Given the description of an element on the screen output the (x, y) to click on. 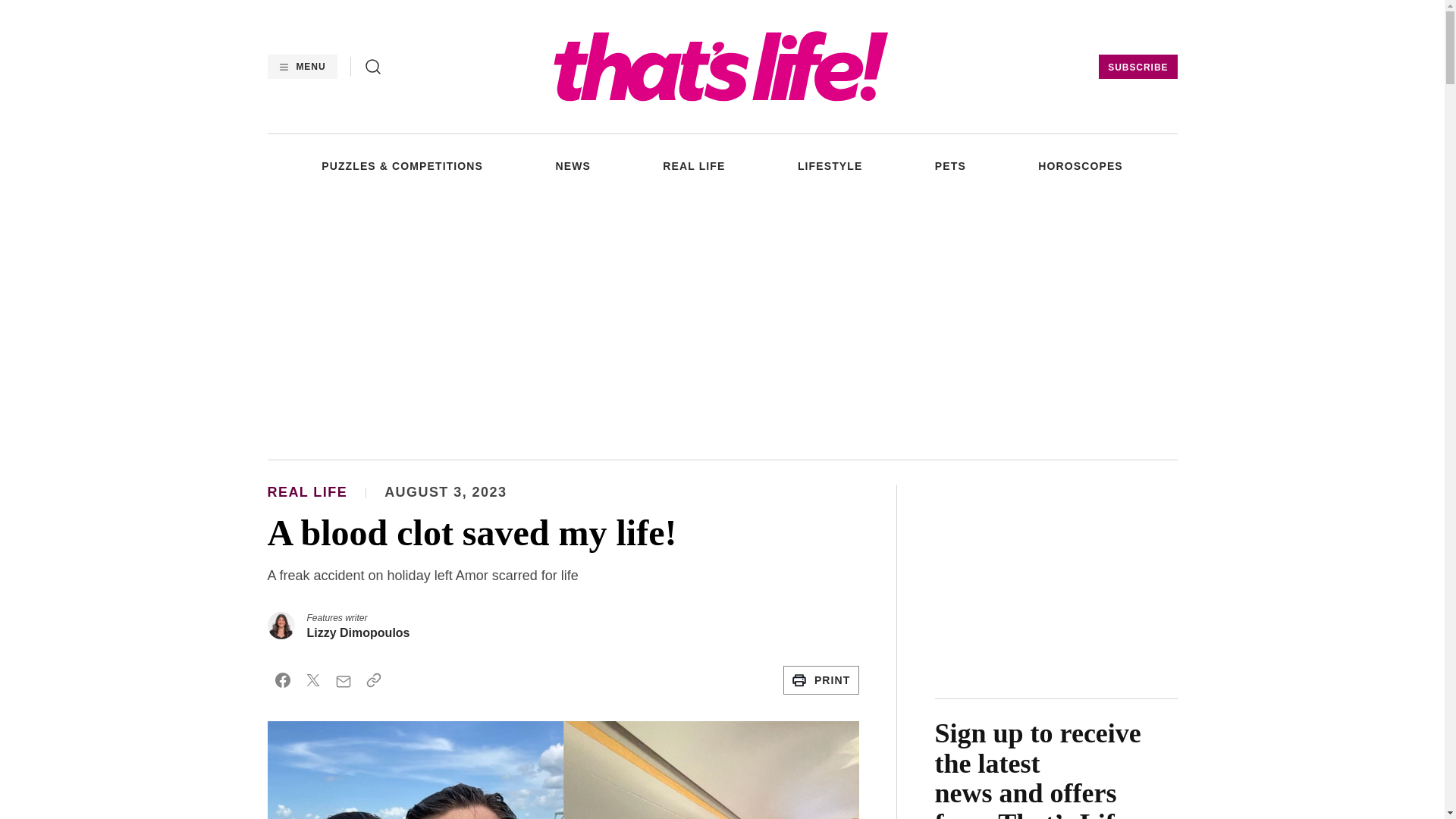
HOROSCOPES (1080, 165)
3rd party ad content (721, 325)
REAL LIFE (693, 165)
LIFESTYLE (830, 165)
PETS (950, 165)
SUBSCRIBE (1137, 66)
NEWS (571, 165)
MENU (301, 66)
3rd party ad content (1055, 579)
